Given the description of an element on the screen output the (x, y) to click on. 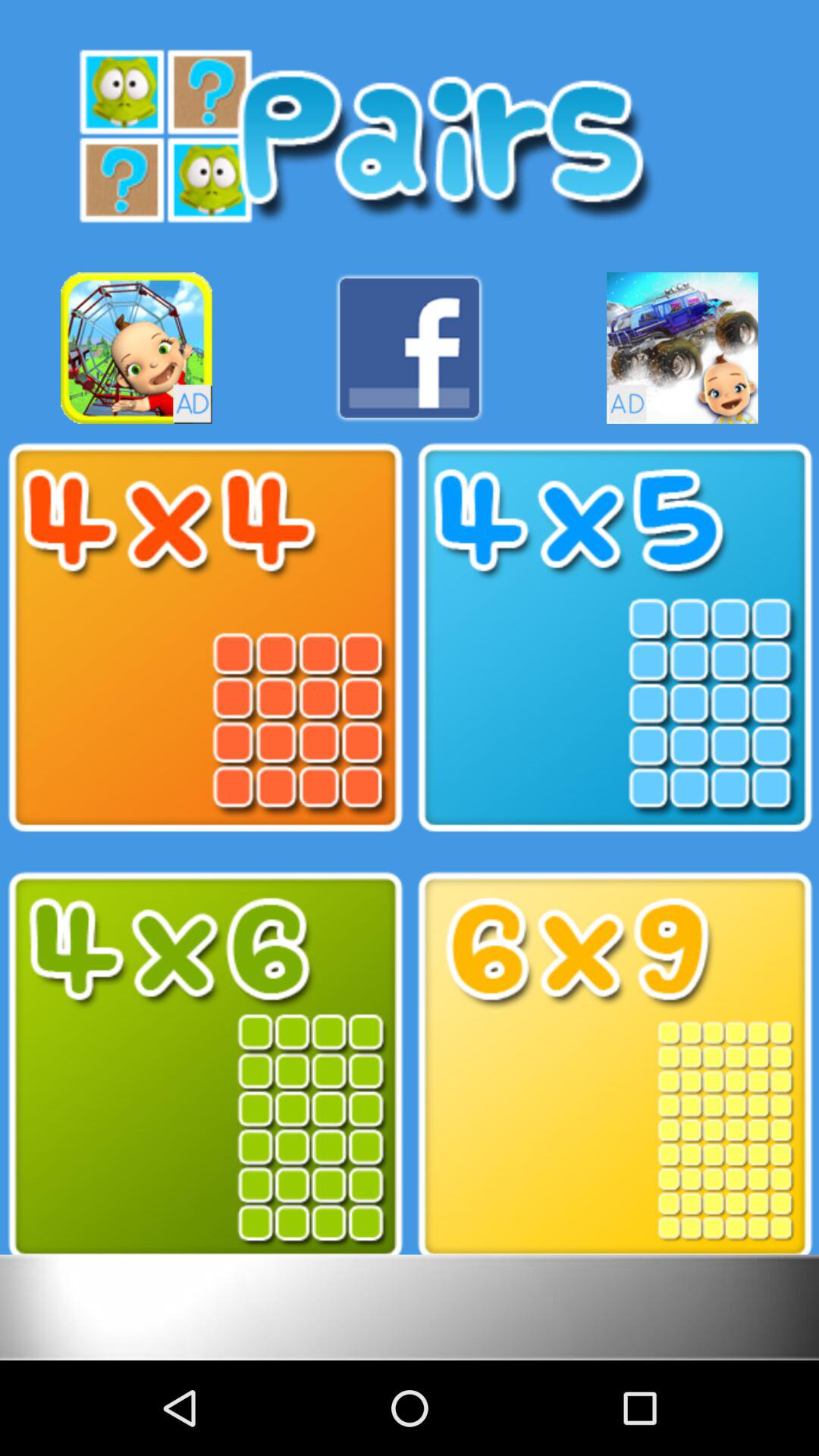
click image (614, 1066)
